Given the description of an element on the screen output the (x, y) to click on. 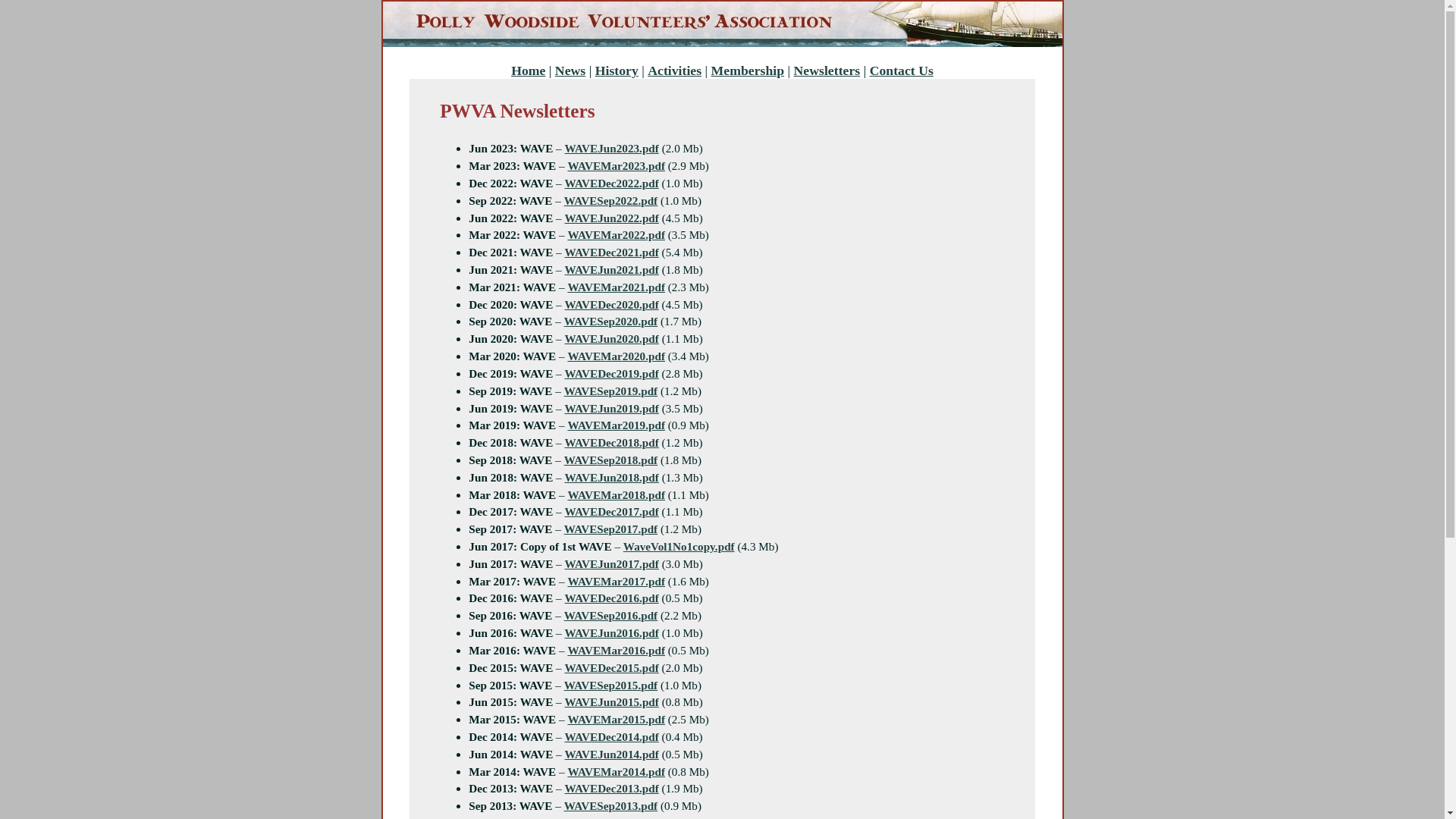
WAVEJun2021.pdf Element type: text (611, 269)
WAVESep2015.pdf Element type: text (611, 684)
WAVEDec2015.pdf Element type: text (611, 667)
Membership Element type: text (747, 70)
WAVEJun2023.pdf Element type: text (611, 147)
WAVEDec2013.pdf Element type: text (611, 787)
WAVEMar2022.pdf Element type: text (616, 234)
WAVESep2018.pdf Element type: text (611, 459)
WAVEDec2017.pdf Element type: text (611, 511)
WAVESep2016.pdf Element type: text (611, 614)
WAVEJun2017.pdf Element type: text (611, 563)
WAVEJun2019.pdf Element type: text (611, 407)
WAVEMar2021.pdf Element type: text (616, 286)
Newsletters Element type: text (826, 70)
News Element type: text (570, 70)
WAVEDec2021.pdf Element type: text (611, 251)
WAVEDec2016.pdf Element type: text (611, 597)
Activities Element type: text (674, 70)
WAVEMar2017.pdf Element type: text (616, 580)
WAVESep2019.pdf Element type: text (611, 390)
WAVESep2013.pdf Element type: text (611, 805)
WAVEDec2020.pdf Element type: text (611, 304)
WAVEJun2018.pdf Element type: text (611, 476)
WAVEMar2020.pdf Element type: text (616, 355)
WAVEMar2015.pdf Element type: text (616, 718)
Contact Us Element type: text (901, 70)
WAVESep2022.pdf Element type: text (611, 200)
WAVESep2020.pdf Element type: text (611, 320)
WAVEMar2014.pdf Element type: text (616, 771)
WAVEDec2022.pdf Element type: text (611, 182)
WAVEJun2022.pdf Element type: text (611, 217)
WaveVol1No1copy.pdf Element type: text (678, 545)
WAVEJun2016.pdf Element type: text (611, 632)
Home Element type: text (528, 70)
WAVEMar2018.pdf Element type: text (616, 494)
WAVESep2017.pdf Element type: text (611, 528)
WAVEDec2019.pdf Element type: text (611, 373)
WAVEDec2014.pdf Element type: text (611, 736)
WAVEJun2020.pdf Element type: text (611, 338)
WAVEDec2018.pdf Element type: text (611, 442)
WAVEJun2014.pdf Element type: text (611, 753)
WAVEJun2015.pdf Element type: text (611, 701)
WAVEMar2019.pdf Element type: text (616, 424)
WAVEMar2016.pdf Element type: text (616, 649)
History Element type: text (616, 70)
WAVEMar2023.pdf Element type: text (616, 165)
